Given the description of an element on the screen output the (x, y) to click on. 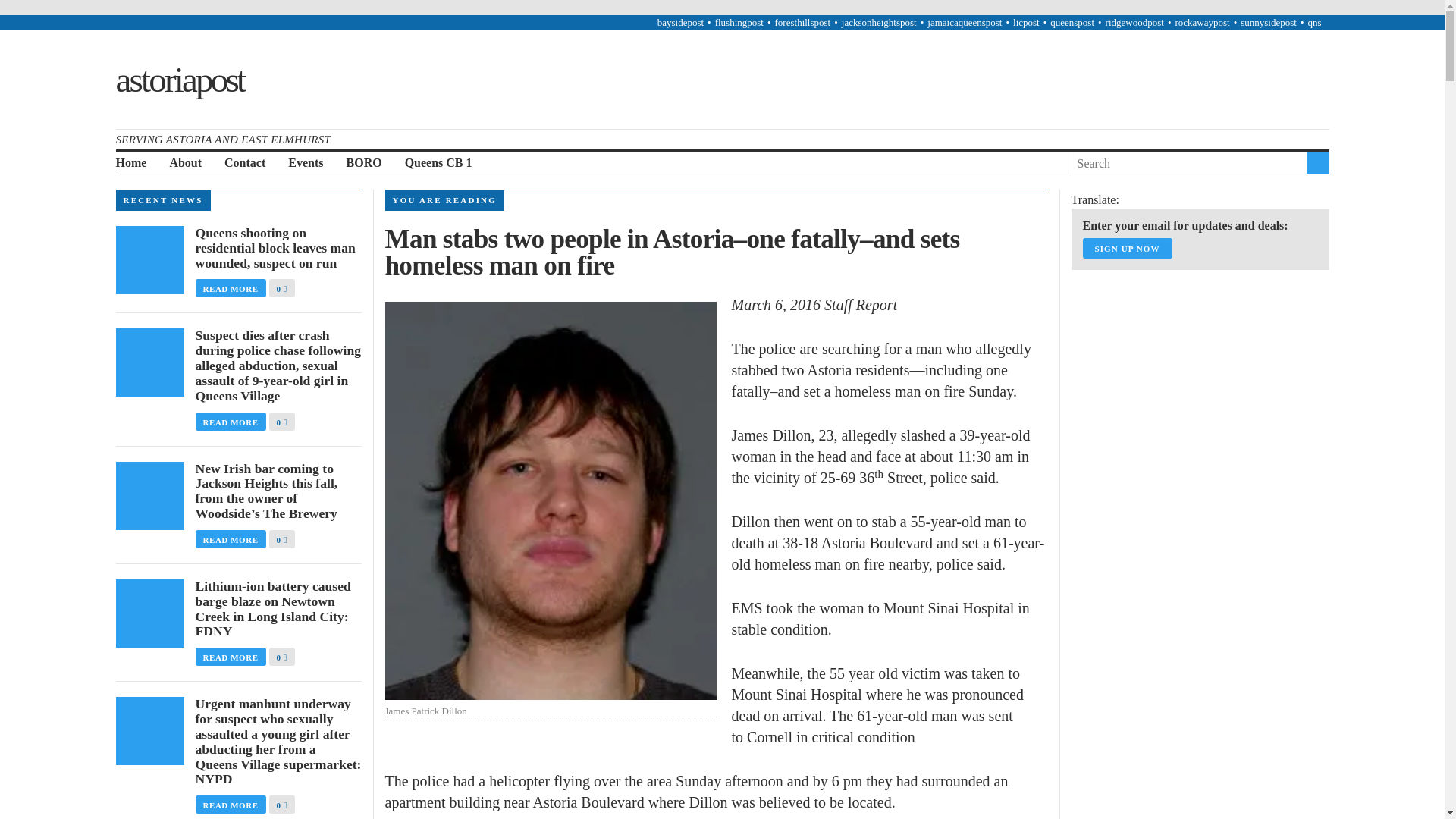
sunnysidepost (1268, 21)
Contact (244, 163)
qns (1313, 21)
jacksonheightspost (879, 21)
baysidepost (680, 21)
queenspost (1071, 21)
foresthillspost (802, 21)
rockawaypost (1201, 21)
Queens CB 1 (437, 163)
Home (131, 163)
